Given the description of an element on the screen output the (x, y) to click on. 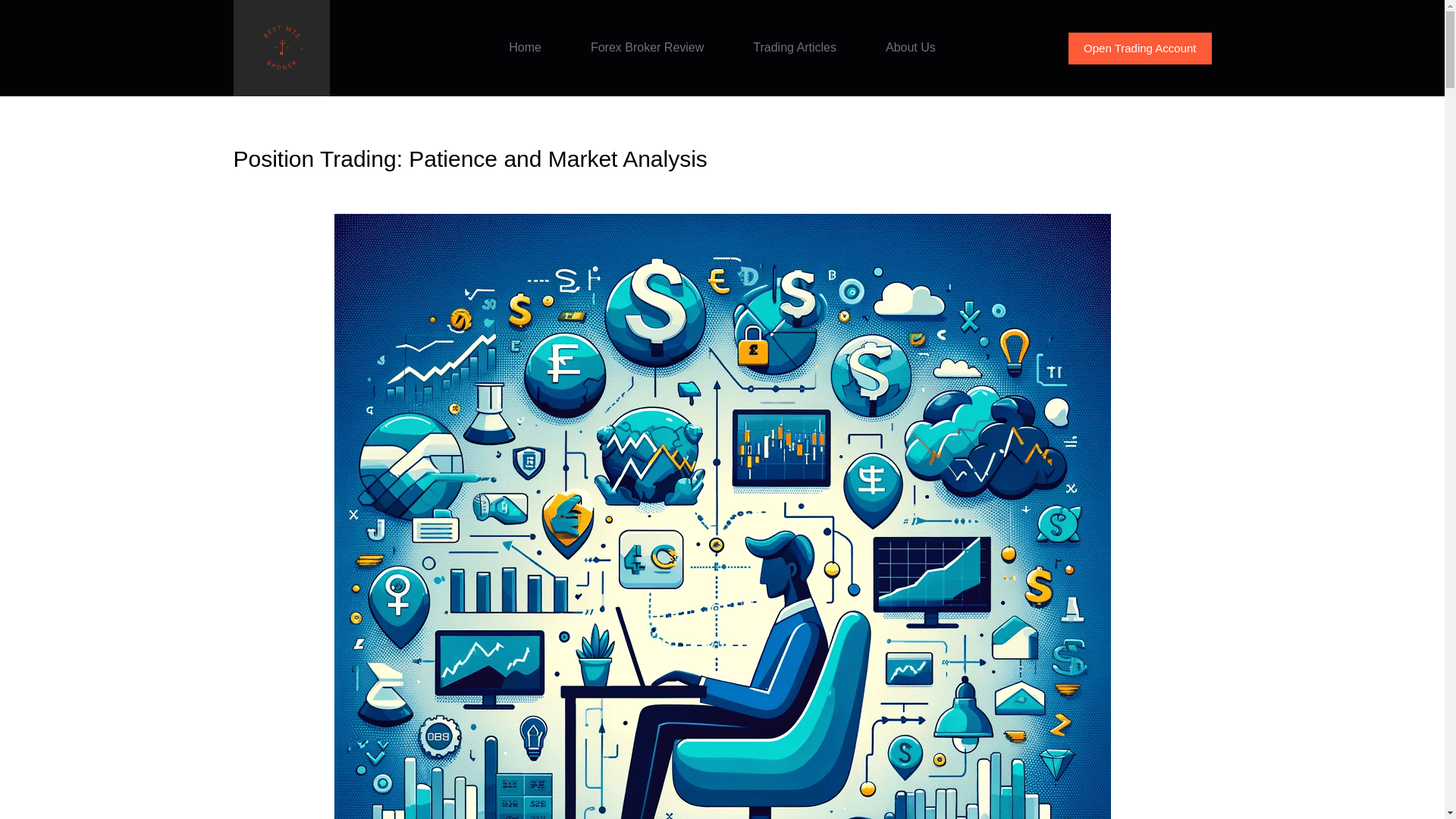
Open Trading Account (1139, 47)
Position Trading: Patience and Market Analysis (721, 158)
About Us (909, 48)
Trading Articles (795, 48)
Forex Broker Review (647, 48)
Skip to content (15, 7)
